Given the description of an element on the screen output the (x, y) to click on. 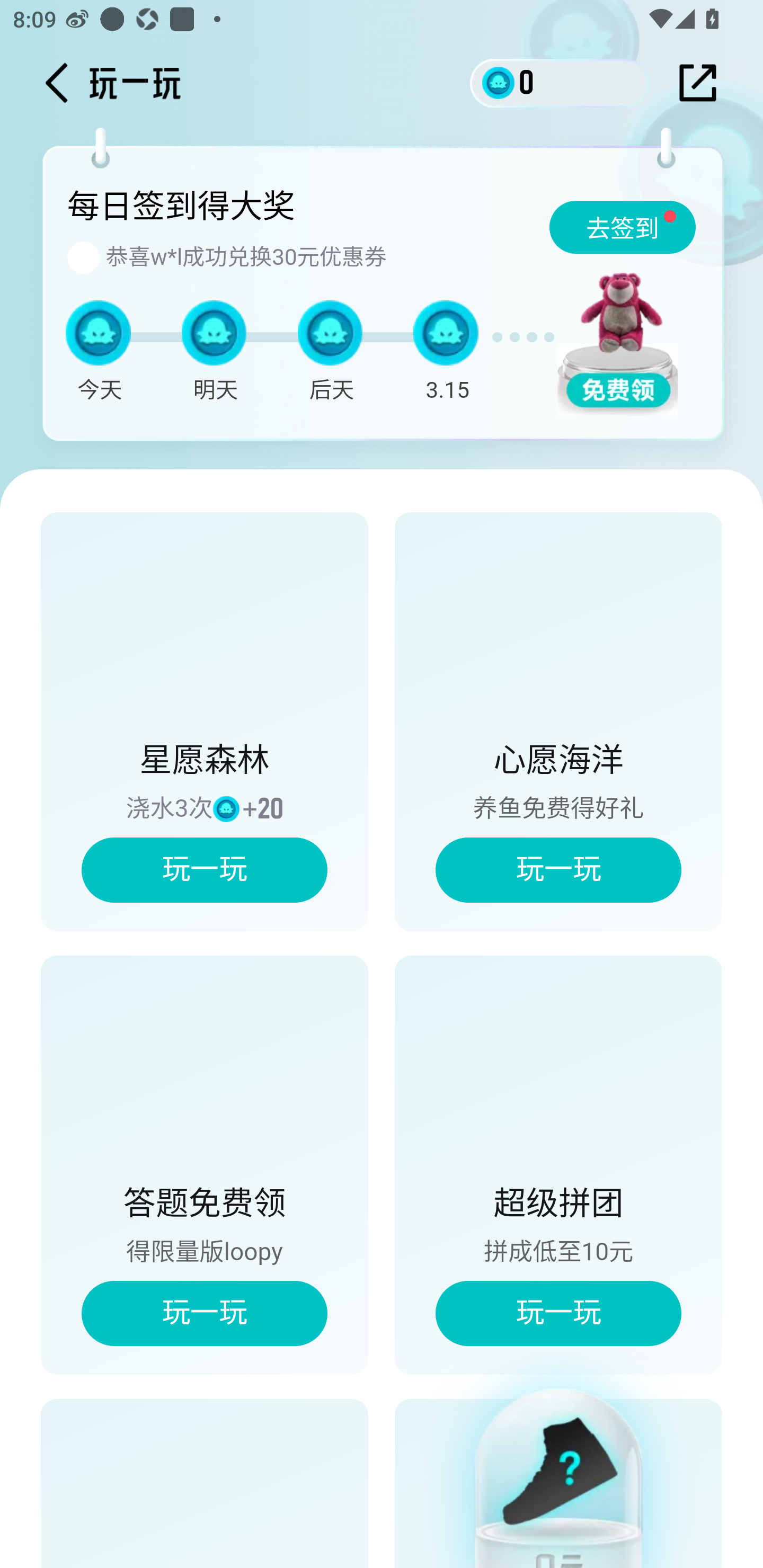
0 (559, 82)
每日签到得大奖 去签到 今天 明天 后天 3.15 (387, 298)
